Given the description of an element on the screen output the (x, y) to click on. 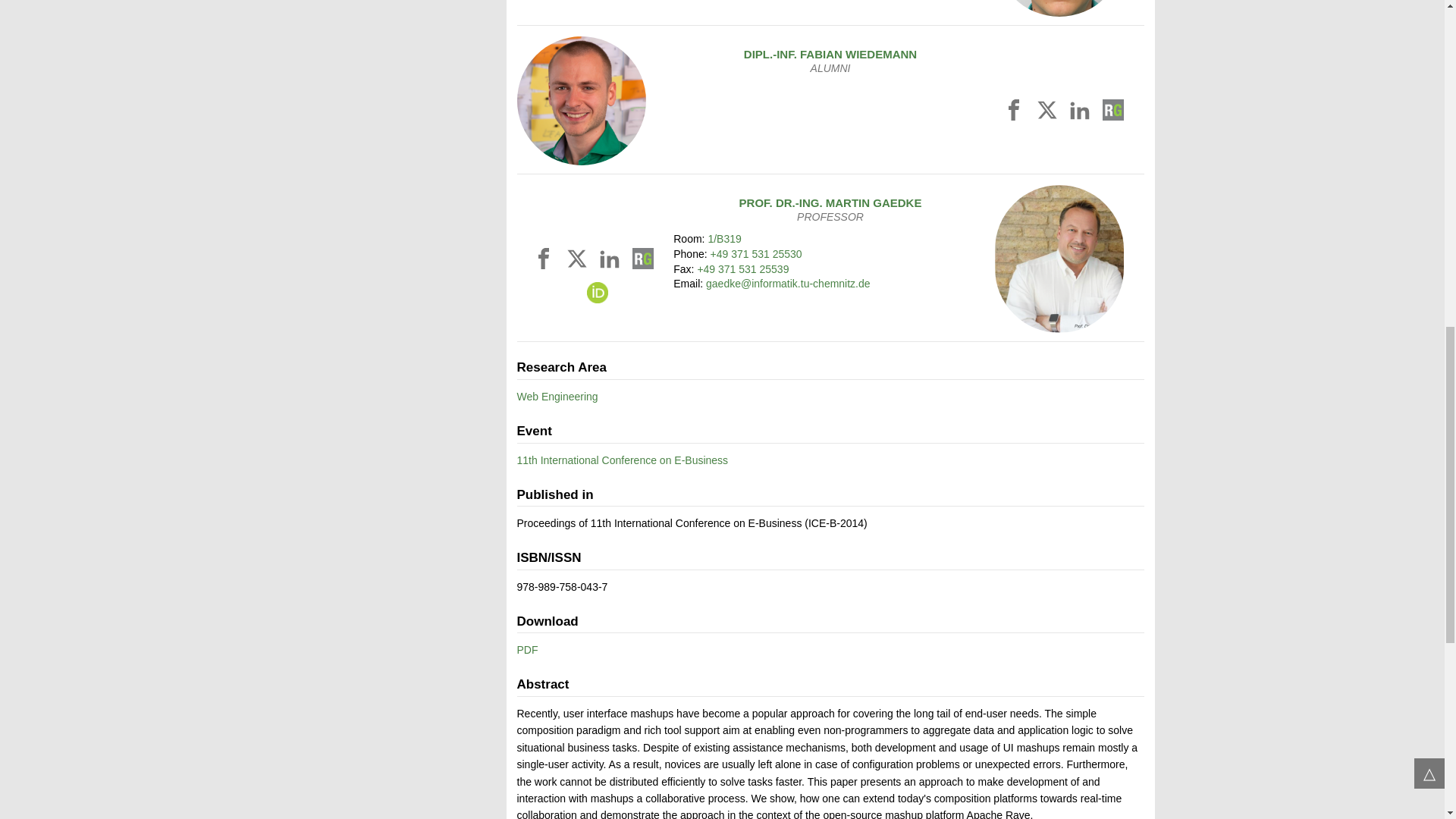
Twitter Martin Gaedke (579, 261)
ResearchGate Fabian Wiedemann (1113, 113)
send a fax (743, 268)
send an email (788, 283)
LinkedIn Fabian Wiedemann (1081, 113)
Facebook Fabian Wiedemann (1016, 113)
Twitter Fabian Wiedemann (1049, 113)
Facebook Martin Gaedke (545, 261)
